Given the description of an element on the screen output the (x, y) to click on. 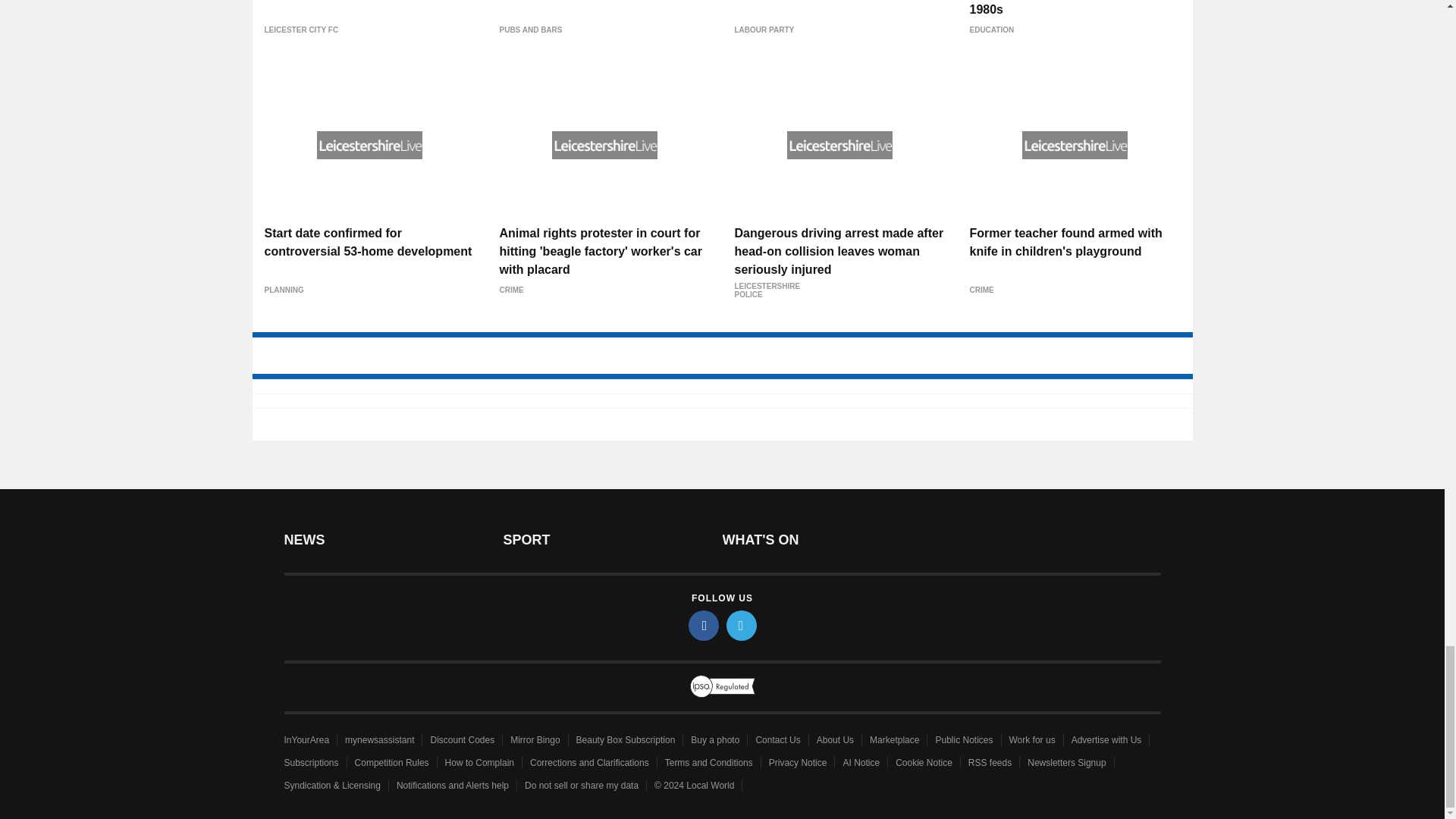
facebook (703, 625)
twitter (741, 625)
